Given the description of an element on the screen output the (x, y) to click on. 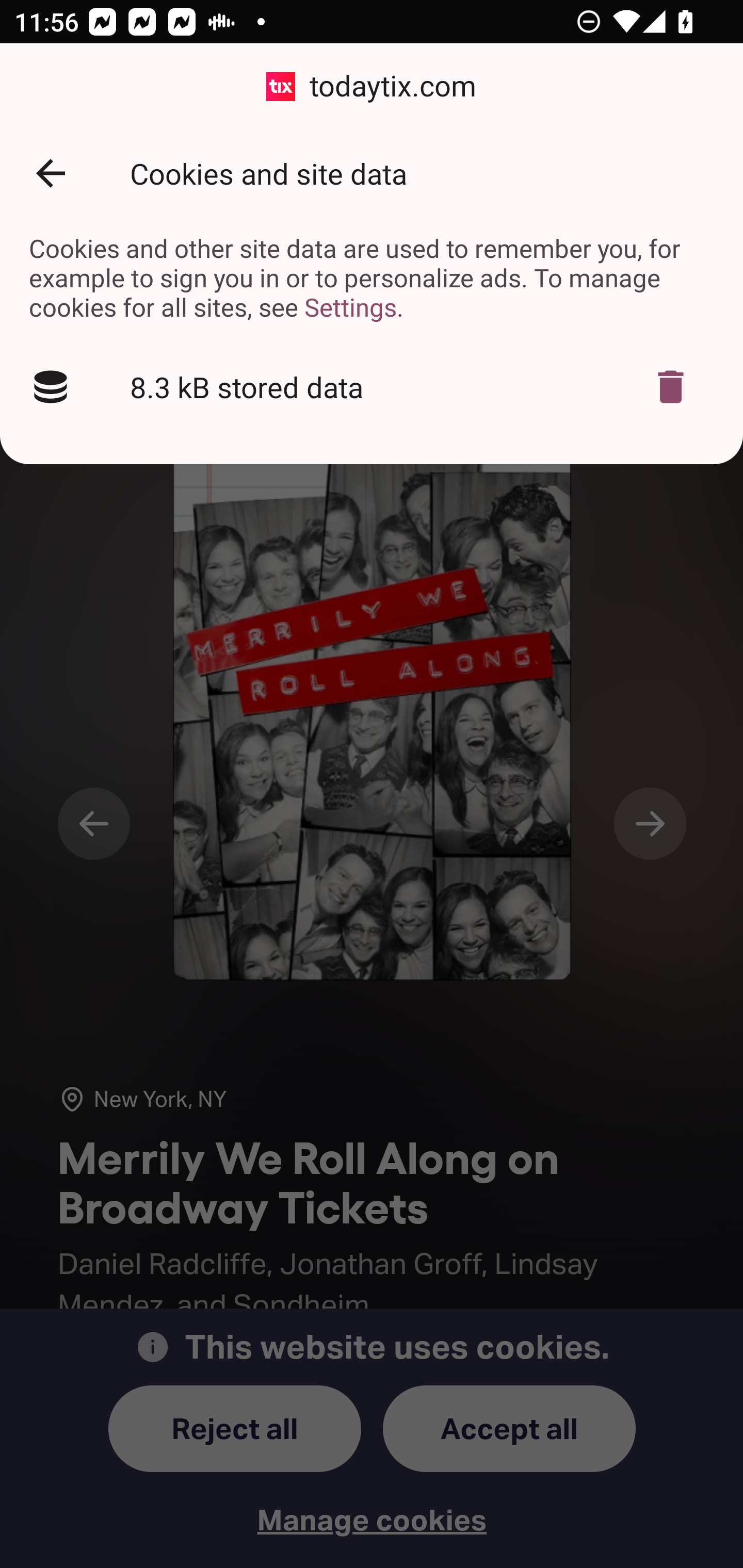
todaytix.com (371, 86)
Back (50, 173)
8.3 kB stored data Delete cookies? (371, 386)
